Given the description of an element on the screen output the (x, y) to click on. 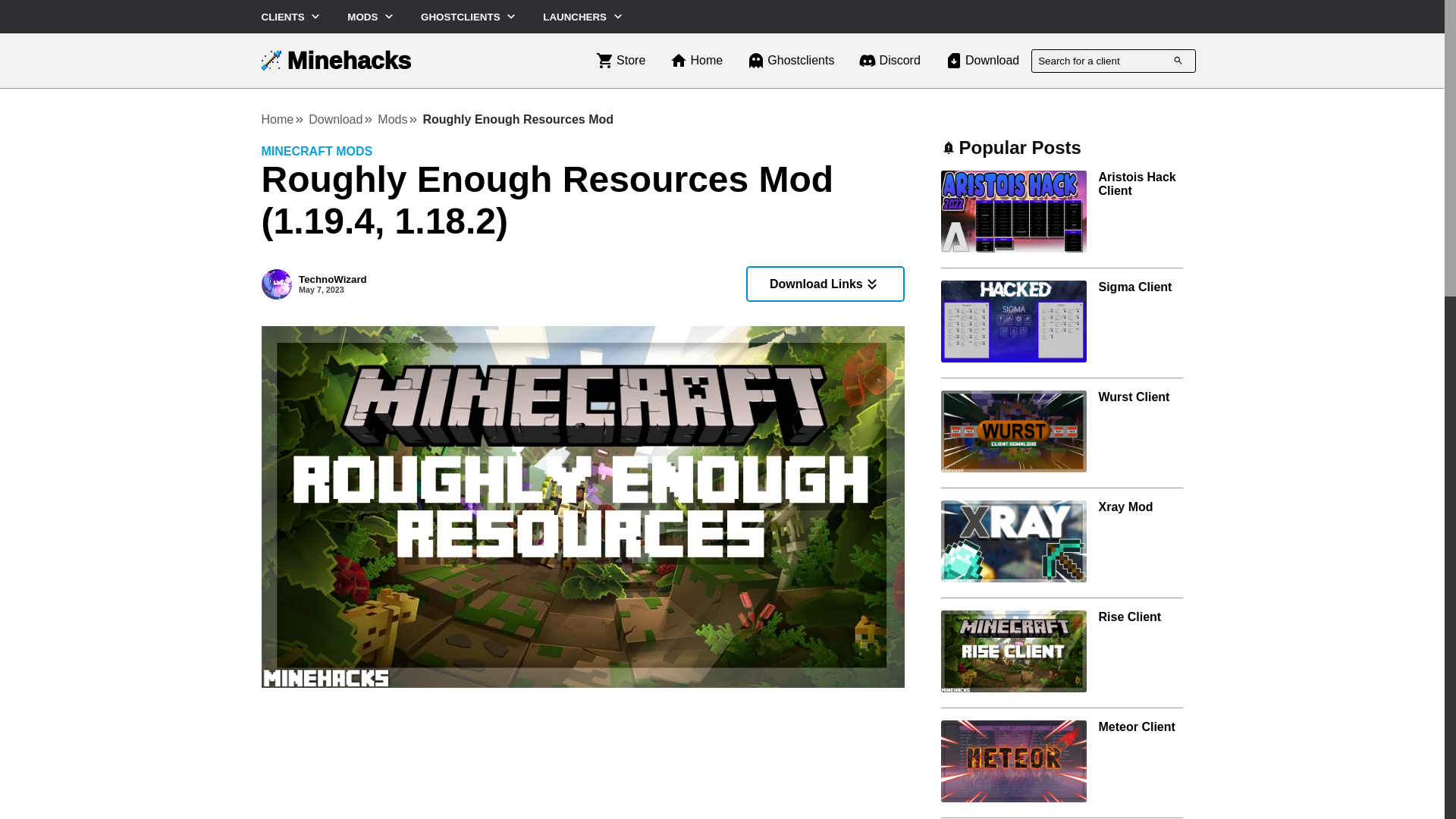
Home (696, 60)
LAUNCHERS (583, 16)
GHOSTCLIENTS (469, 16)
CLIENTS (291, 16)
Sigma Client (582, 283)
MODS (1134, 287)
Download (371, 16)
Discord (981, 60)
Home (888, 60)
Download (282, 119)
Ghostclients (341, 119)
Store (790, 60)
Minehacks (620, 60)
Download Links (335, 60)
